Given the description of an element on the screen output the (x, y) to click on. 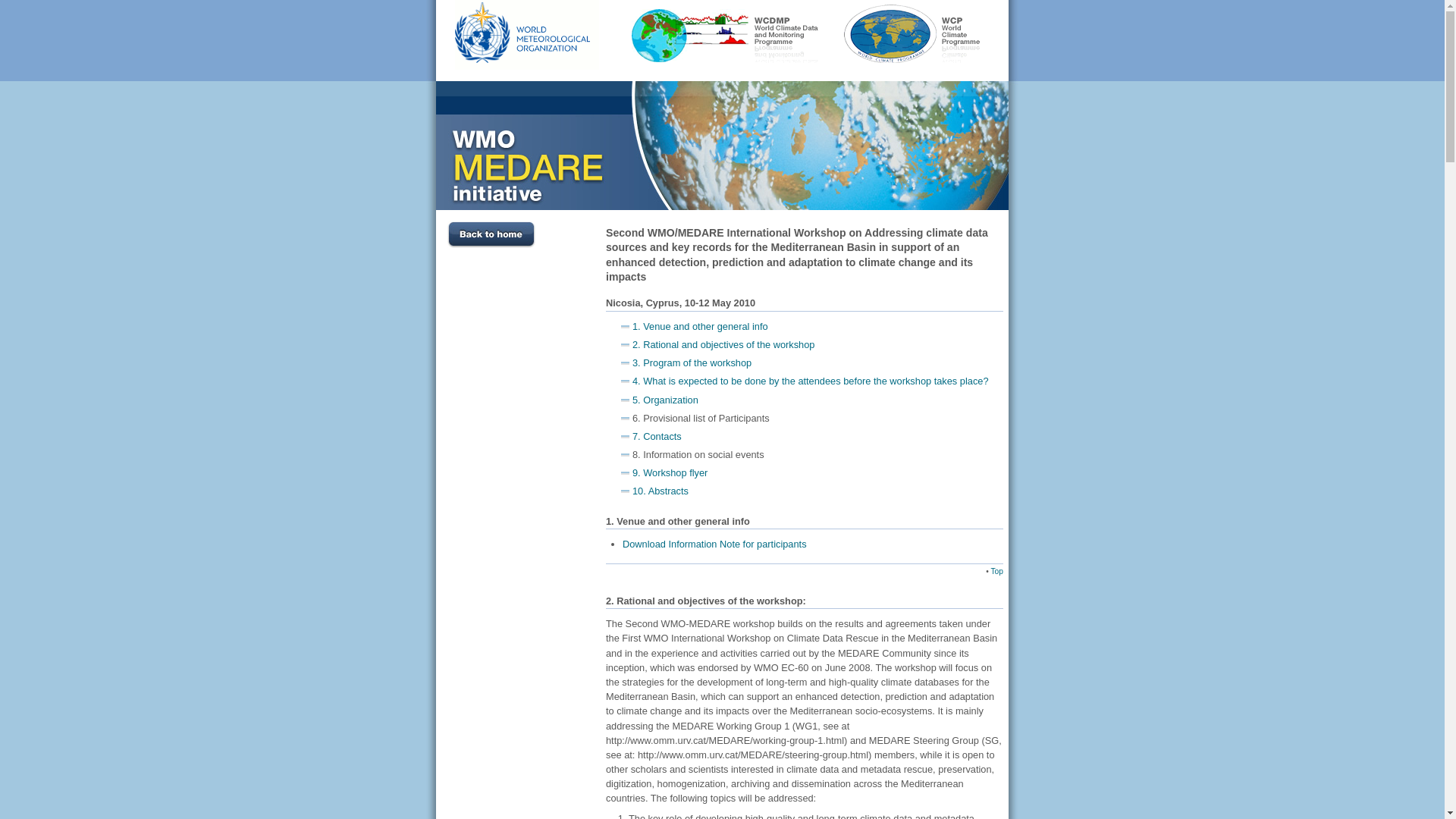
1. Venue and other general info Element type: text (700, 326)
10. Abstracts Element type: text (660, 490)
WMO MEDARE Initiative Element type: text (722, 145)
Top Element type: text (996, 571)
7. Contacts Element type: text (656, 436)
9. Workshop flyer Element type: text (669, 472)
2. Rational and objectives of the workshop Element type: text (723, 344)
3. Program of the workshop Element type: text (691, 362)
5. Organization Element type: text (665, 399)
Download Information Note for participants Element type: text (714, 543)
